Given the description of an element on the screen output the (x, y) to click on. 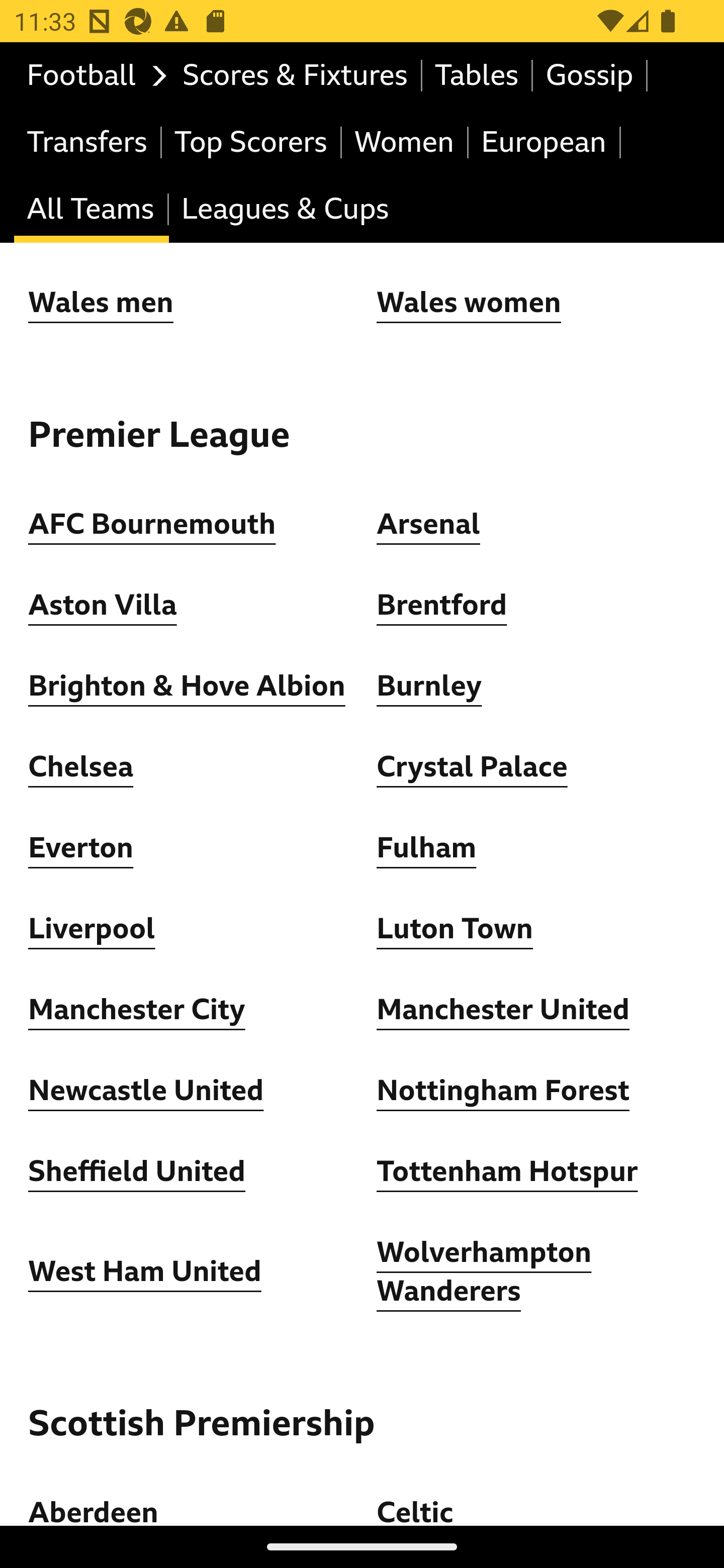
Wales men (100, 303)
Wales women (468, 303)
AFC Bournemouth (151, 525)
Arsenal (428, 525)
Aston Villa (102, 606)
Brentford (442, 606)
Brighton & Hove Albion (187, 687)
Burnley (429, 687)
Chelsea (80, 768)
Crystal Palace (472, 768)
Everton (80, 849)
Fulham (426, 849)
Liverpool (92, 929)
Luton Town (455, 929)
Manchester City (137, 1011)
Manchester United (503, 1011)
Newcastle United (146, 1092)
Nottingham Forest (503, 1092)
Sheffield United (137, 1172)
Tottenham Hotspur (507, 1172)
Wolverhampton Wanderers (484, 1272)
West Ham United (145, 1272)
Aberdeen (94, 1510)
Celtic (414, 1510)
